Given the description of an element on the screen output the (x, y) to click on. 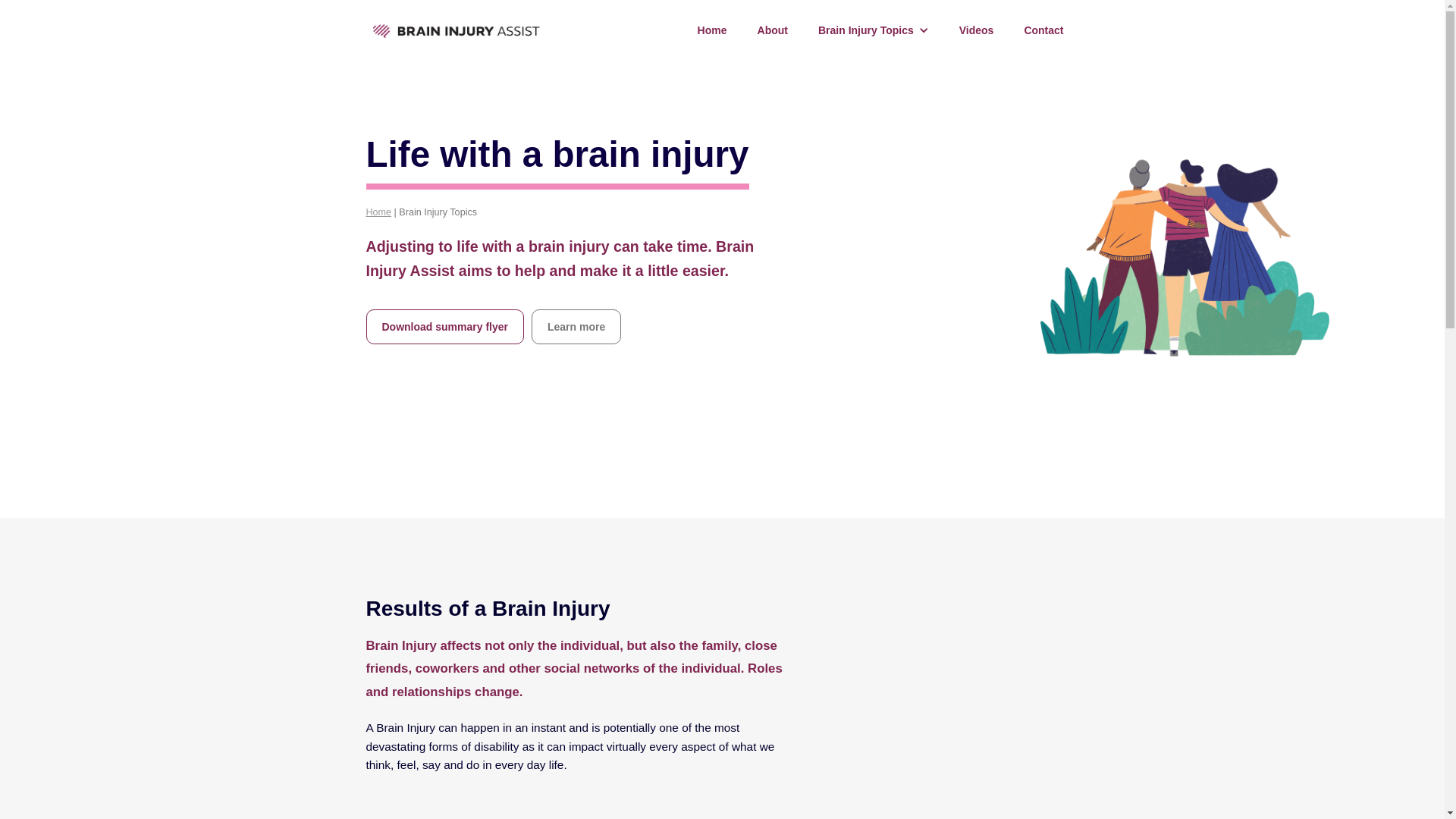
Home Element type: text (378, 213)
Download summary flyer Element type: text (444, 326)
About Element type: text (772, 30)
Home Element type: text (712, 30)
Learn more Element type: text (576, 326)
Videos Element type: text (976, 30)
Contact Element type: text (1043, 30)
